Given the description of an element on the screen output the (x, y) to click on. 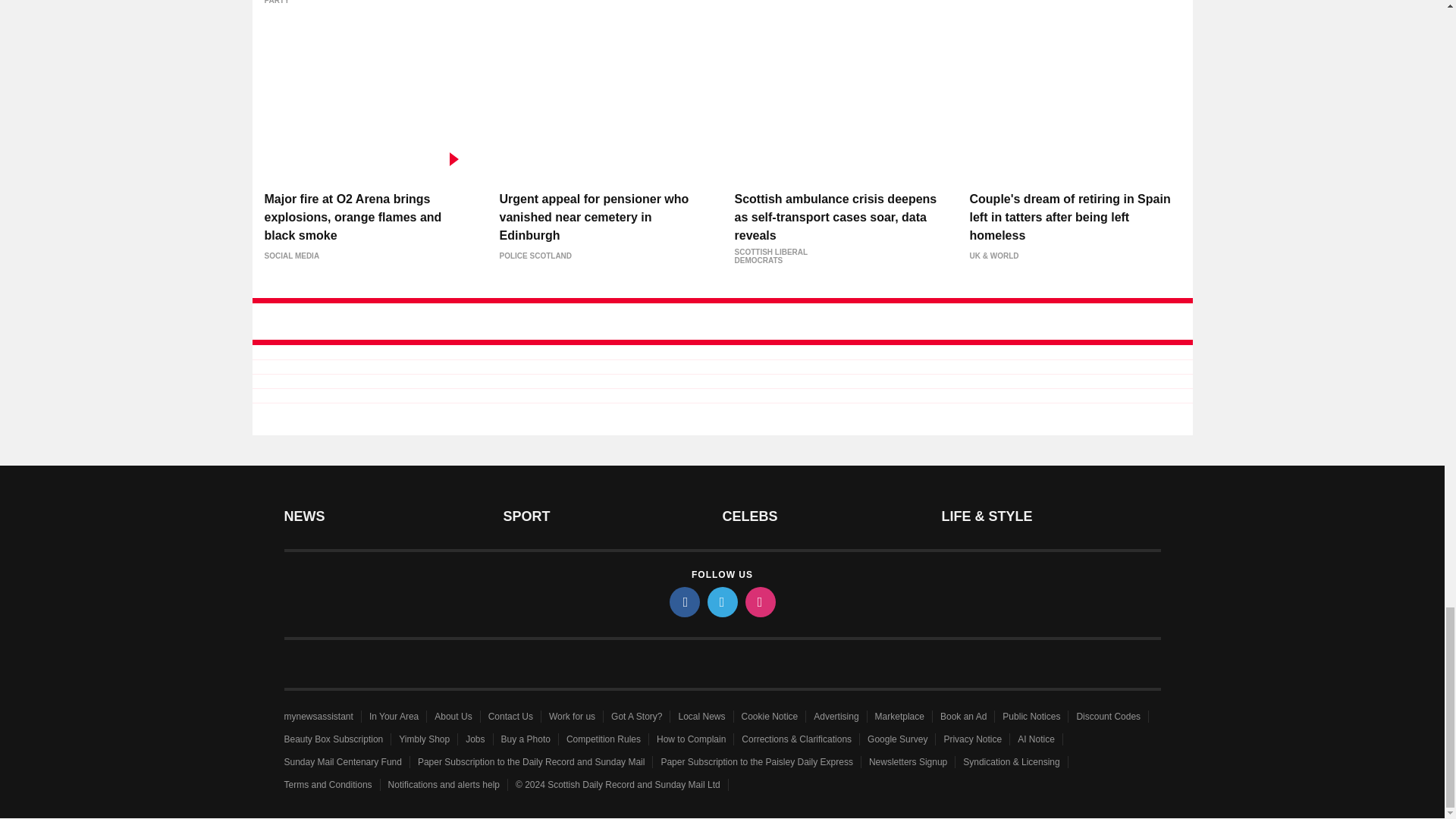
instagram (759, 602)
facebook (683, 602)
twitter (721, 602)
